Given the description of an element on the screen output the (x, y) to click on. 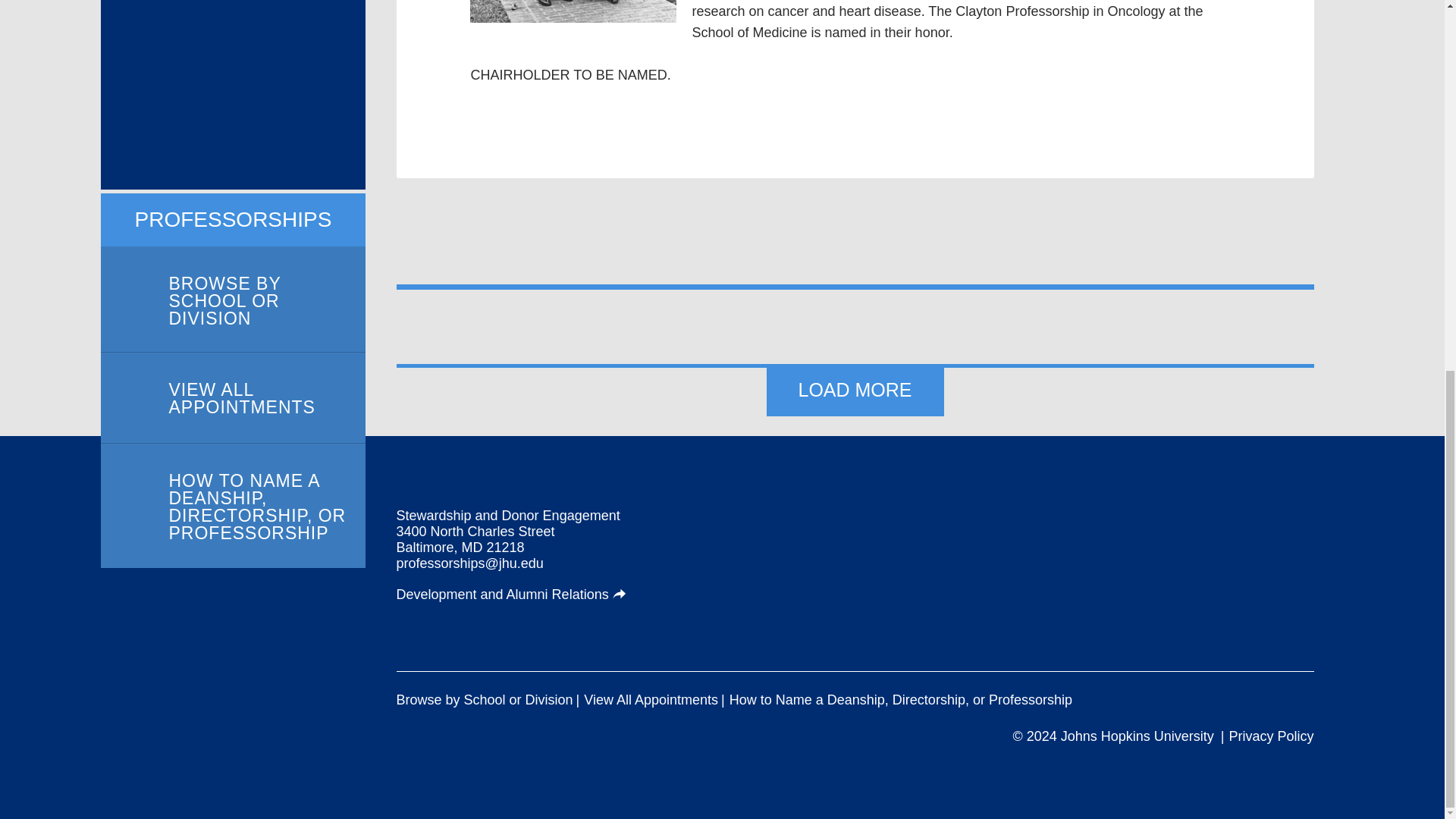
Browse by School or Division (484, 699)
How to Name a Deanship, Directorship, or Professorship (900, 699)
Privacy Policy (1270, 735)
Development and Alumni Relations (511, 594)
View All Appointments (650, 699)
LOAD MORE (854, 389)
JHU Professorships (1208, 556)
